Given the description of an element on the screen output the (x, y) to click on. 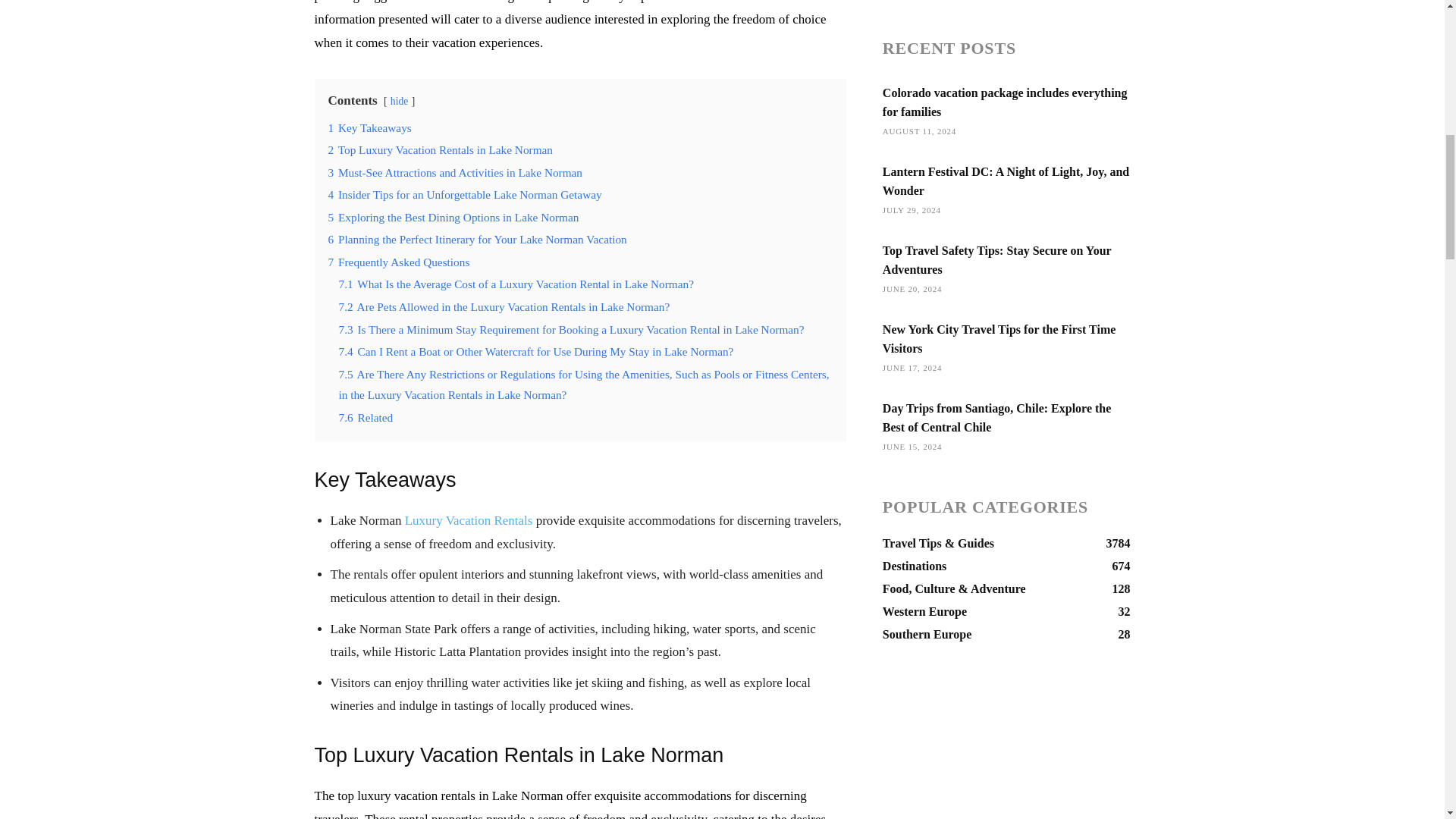
3 Must-See Attractions and Activities in Lake Norman (454, 172)
4 Insider Tips for an Unforgettable Lake Norman Getaway (464, 194)
hide (398, 101)
2 Top Luxury Vacation Rentals in Lake Norman (440, 149)
5 Exploring the Best Dining Options in Lake Norman (452, 216)
1 Key Takeaways (368, 127)
Luxury Vacation Rentals (468, 520)
